Given the description of an element on the screen output the (x, y) to click on. 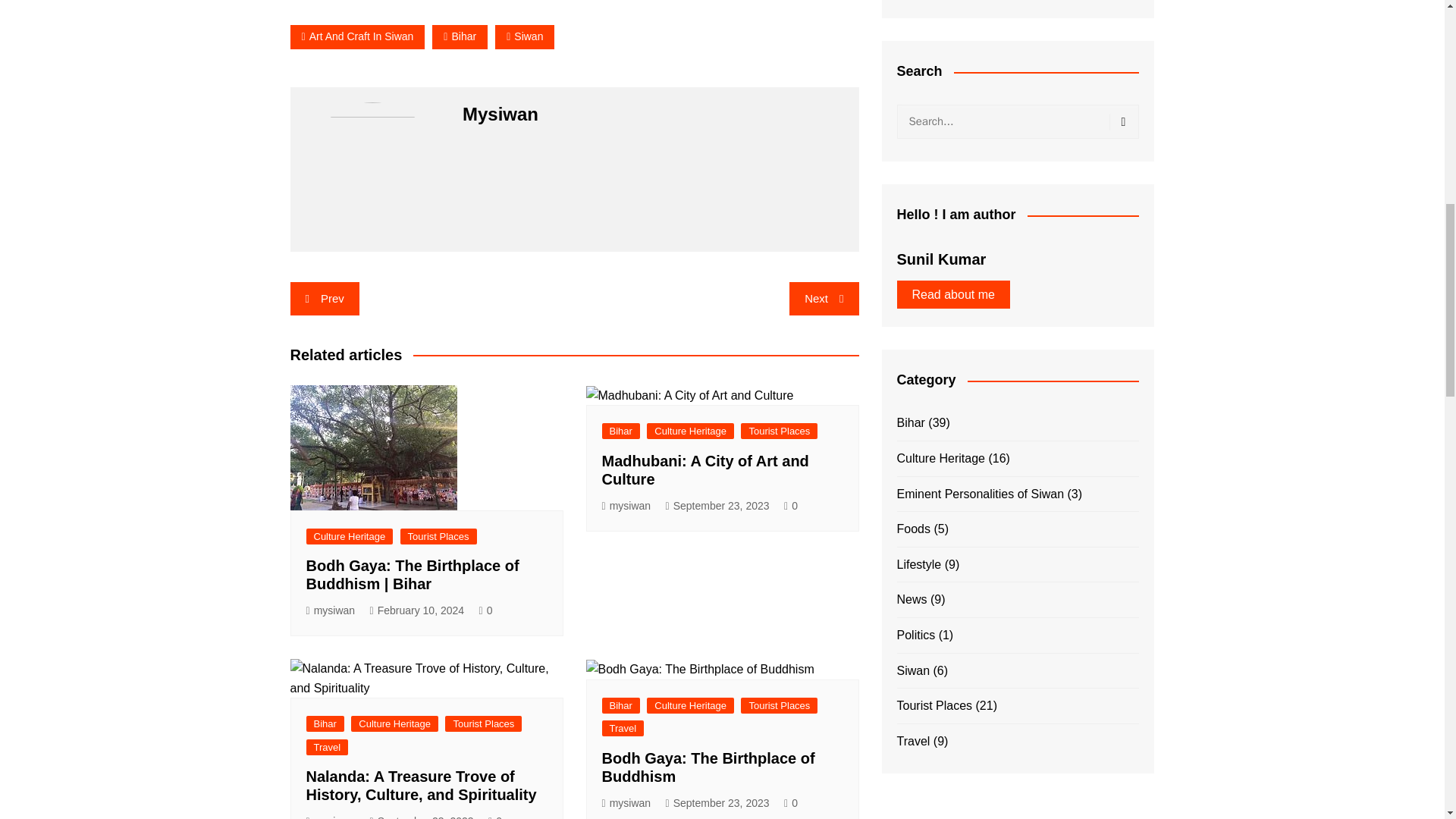
Tourist Places (438, 536)
Next (824, 298)
Prev (323, 298)
Siwan (524, 36)
Culture Heritage (349, 536)
Art And Craft In Siwan (357, 36)
mysiwan (330, 610)
Bihar (459, 36)
